Given the description of an element on the screen output the (x, y) to click on. 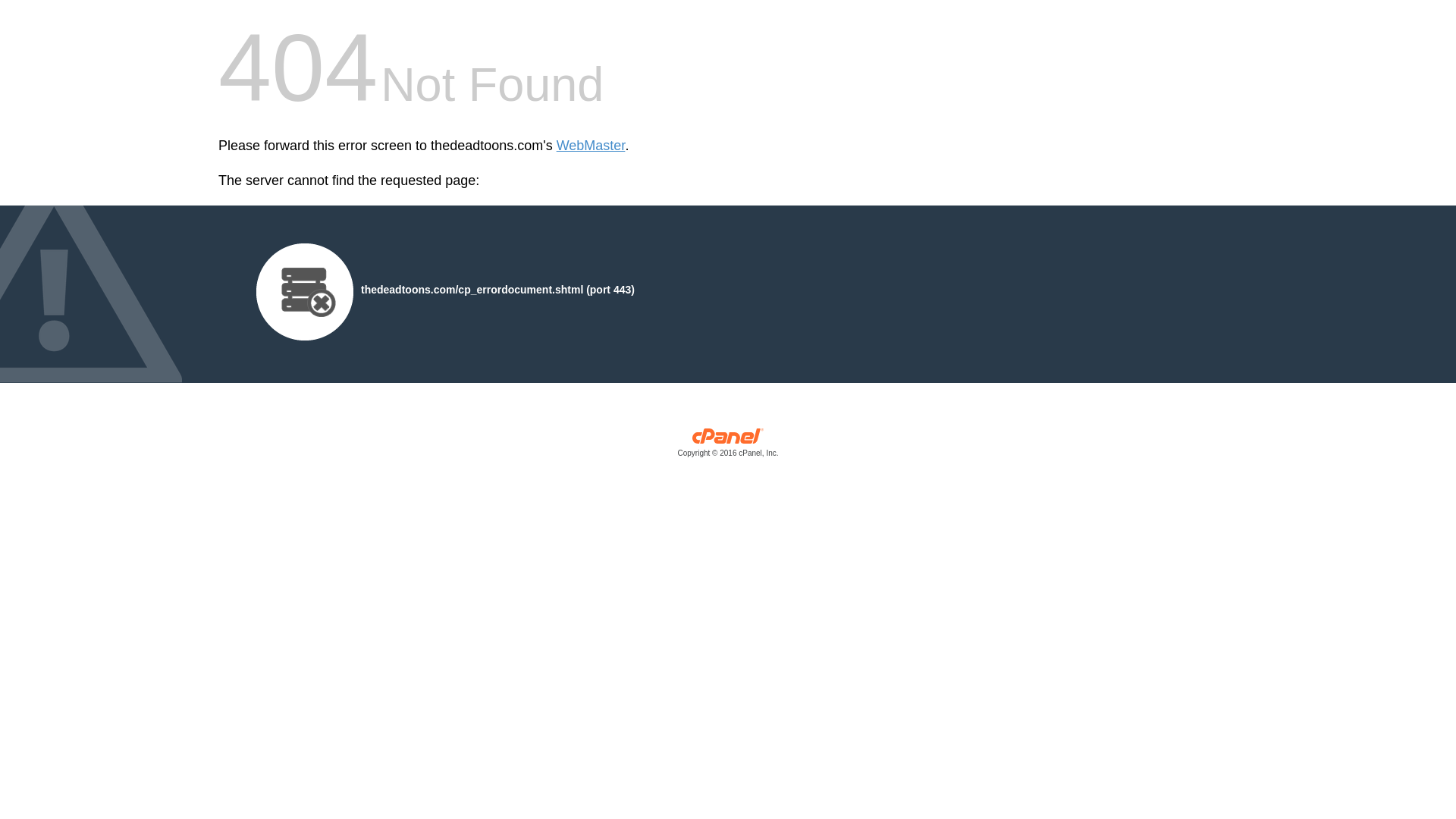
WebMaster (591, 145)
cPanel, Inc. (727, 446)
